Given the description of an element on the screen output the (x, y) to click on. 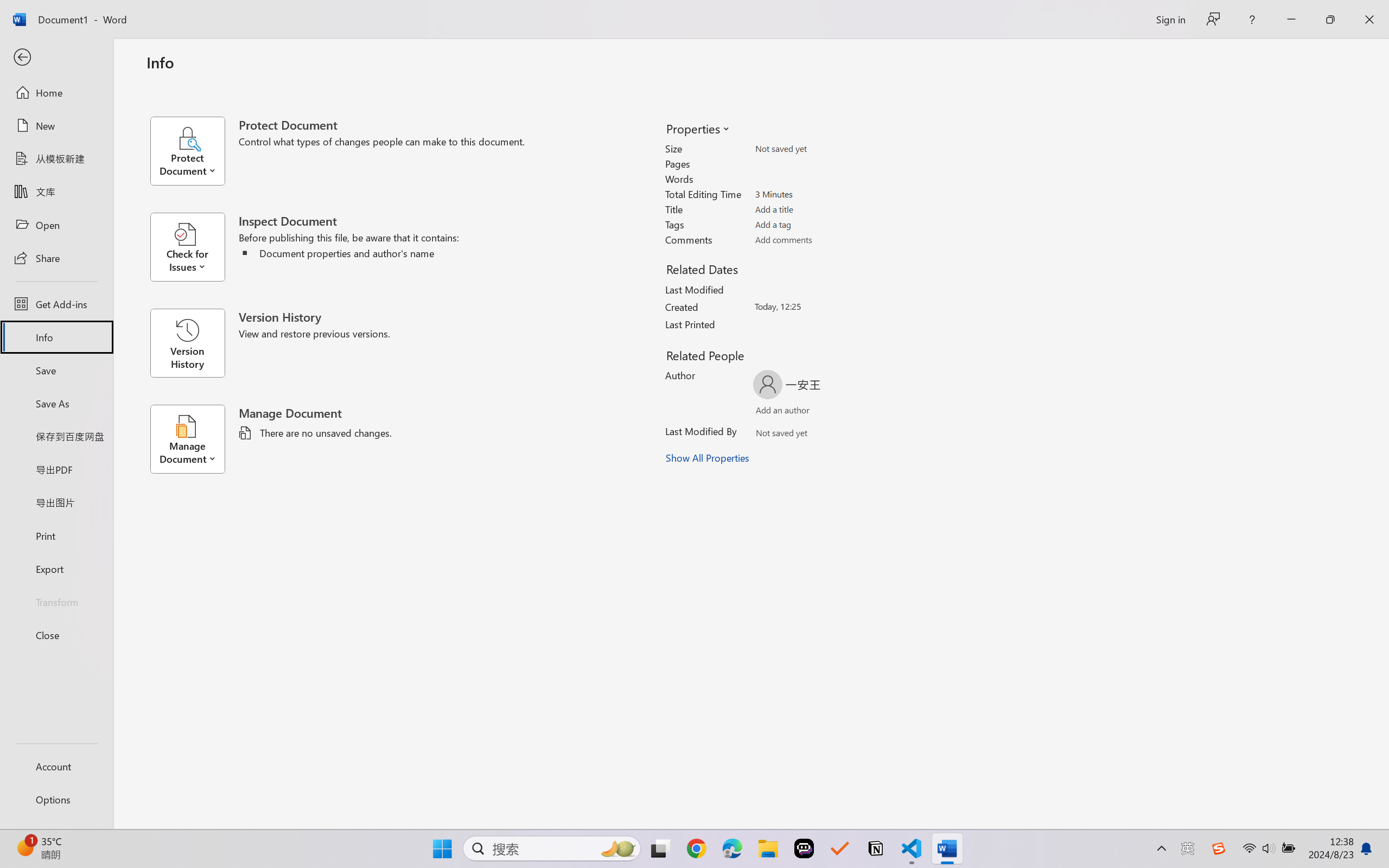
Version History (187, 343)
Back (56, 57)
Options (56, 798)
Browse Address Book (852, 435)
Size (818, 148)
Add an author (772, 411)
Properties (696, 128)
Title (818, 209)
